Given the description of an element on the screen output the (x, y) to click on. 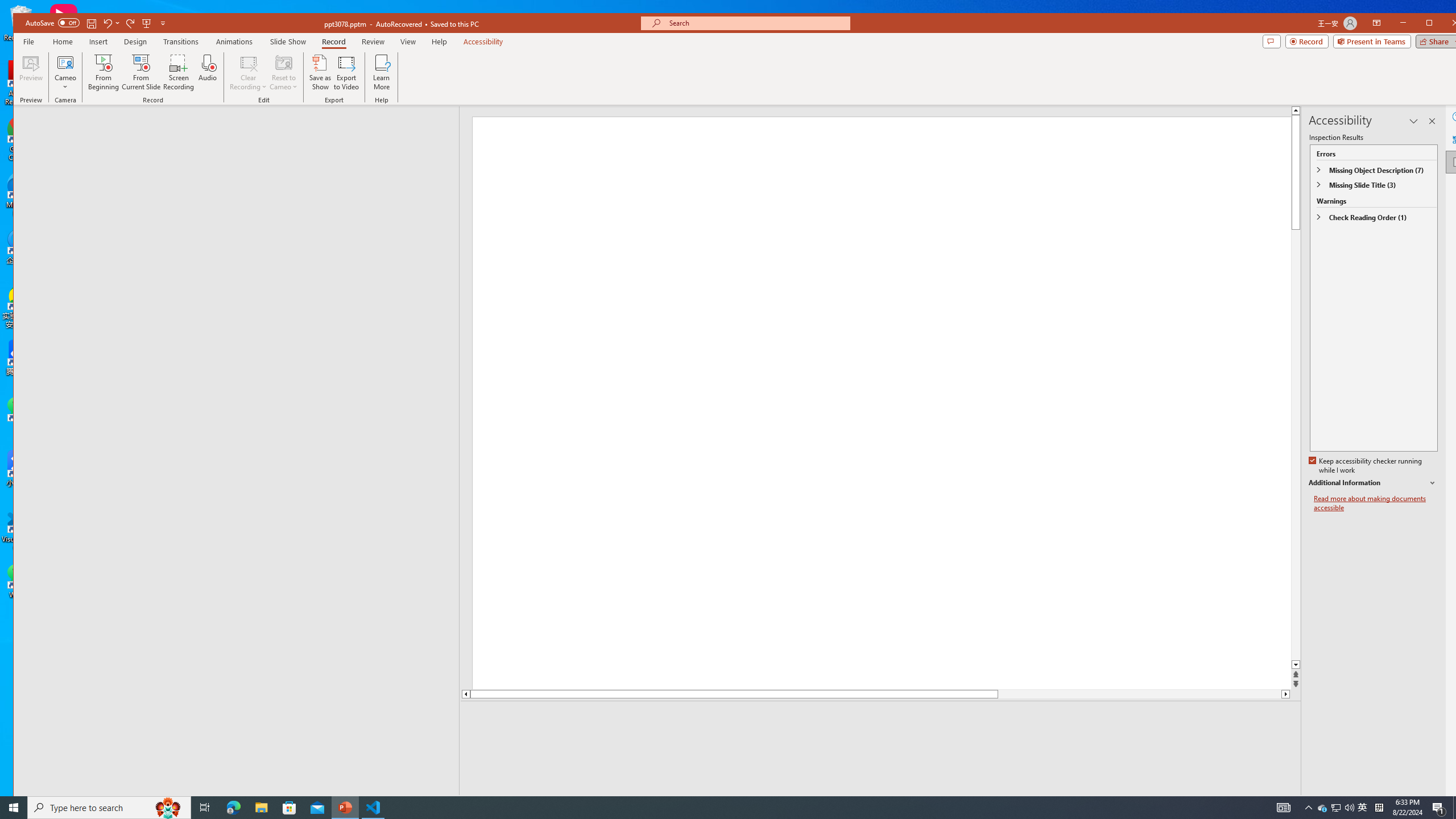
Slide Show Previous On (1217, 802)
